Given the description of an element on the screen output the (x, y) to click on. 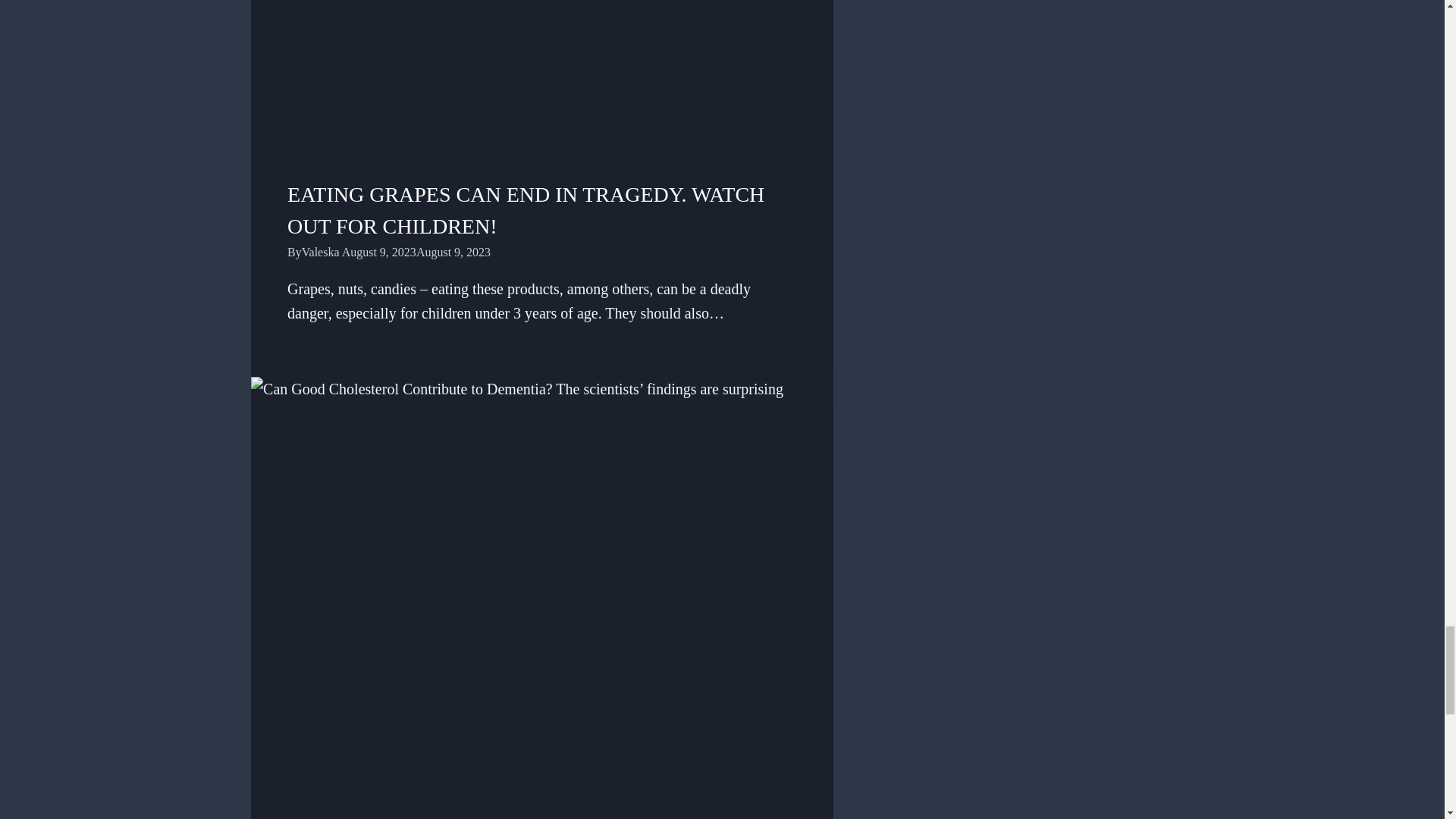
EATING GRAPES CAN END IN TRAGEDY. WATCH OUT FOR CHILDREN! (525, 210)
